Given the description of an element on the screen output the (x, y) to click on. 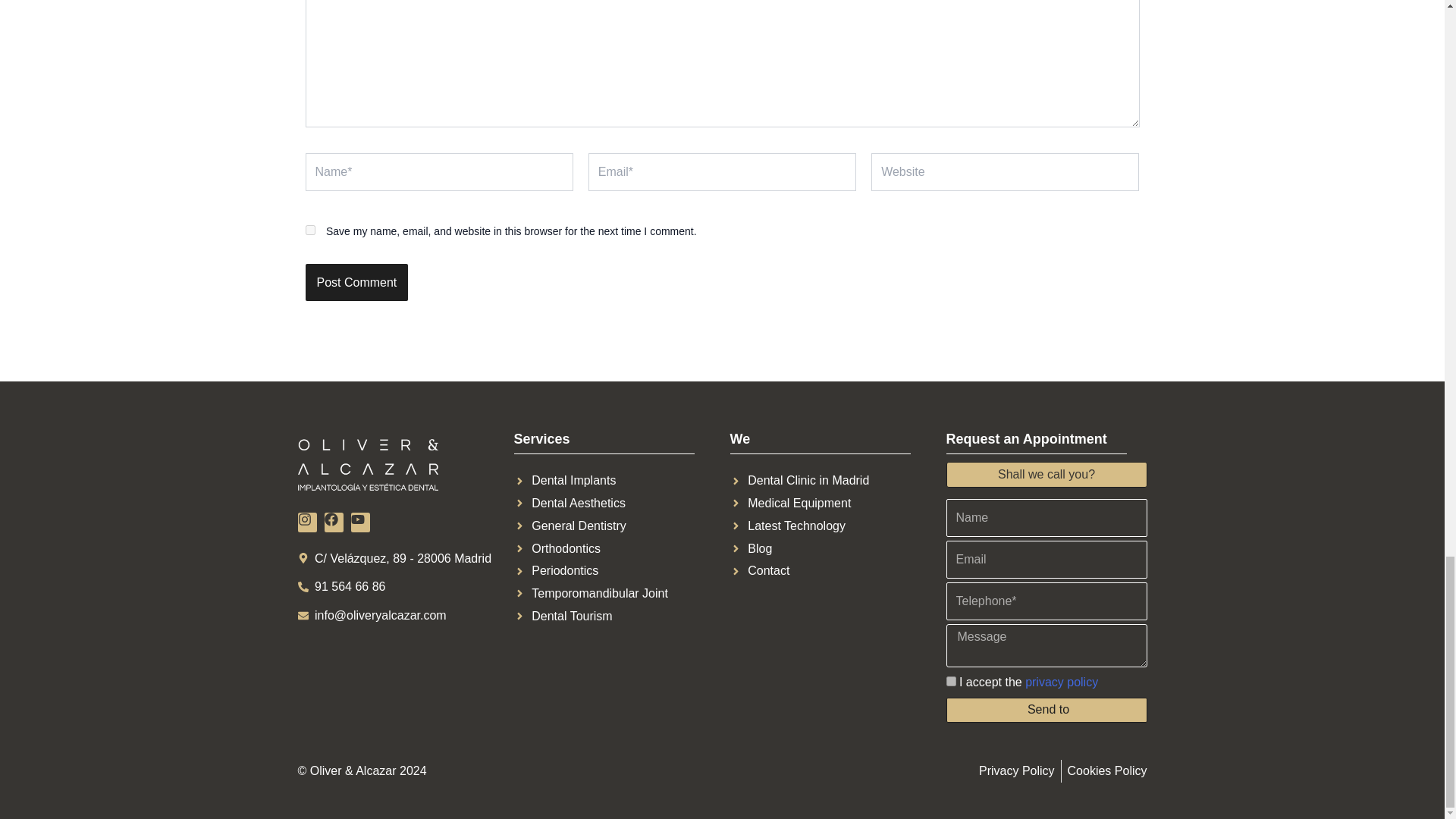
yes (309, 230)
Post Comment (355, 282)
on (951, 681)
